Given the description of an element on the screen output the (x, y) to click on. 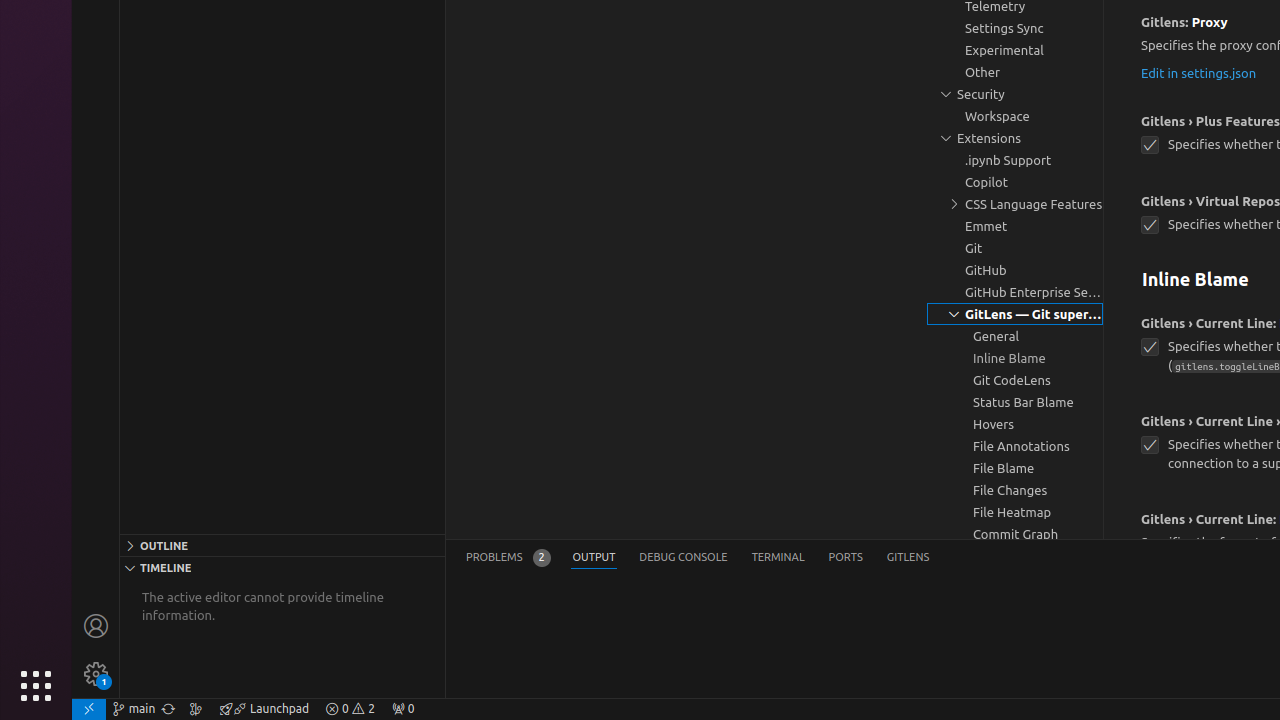
GitHub, group Element type: tree-item (1015, 270)
Commit Graph, group Element type: tree-item (1015, 534)
CSS Language Features, group Element type: tree-item (1015, 204)
Emmet, group Element type: tree-item (1015, 226)
More Actions... (Shift+F9) Element type: push-button (1116, 516)
